Given the description of an element on the screen output the (x, y) to click on. 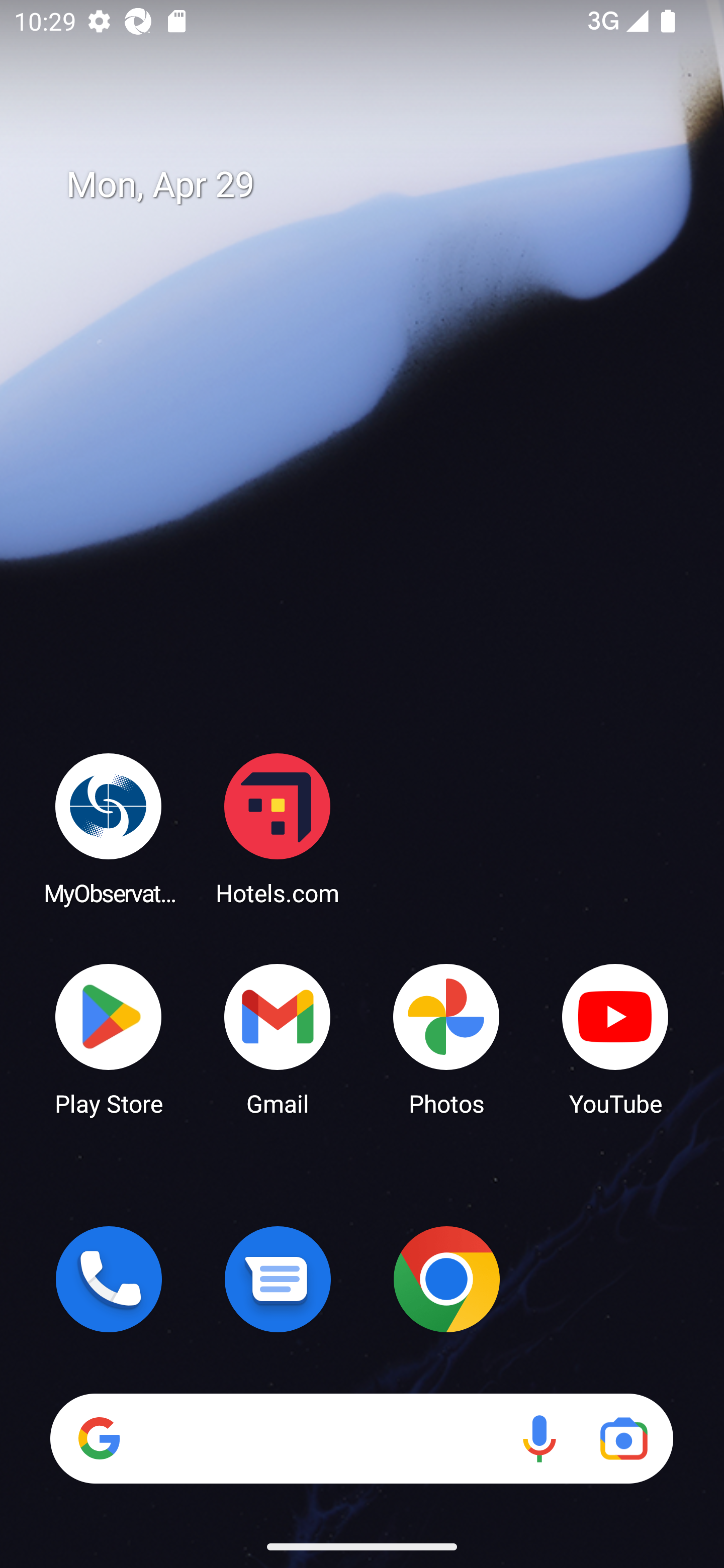
Mon, Apr 29 (375, 184)
MyObservatory (108, 828)
Hotels.com (277, 828)
Play Store (108, 1038)
Gmail (277, 1038)
Photos (445, 1038)
YouTube (615, 1038)
Phone (108, 1279)
Messages (277, 1279)
Chrome (446, 1279)
Search Voice search Google Lens (361, 1438)
Voice search (539, 1438)
Google Lens (623, 1438)
